Given the description of an element on the screen output the (x, y) to click on. 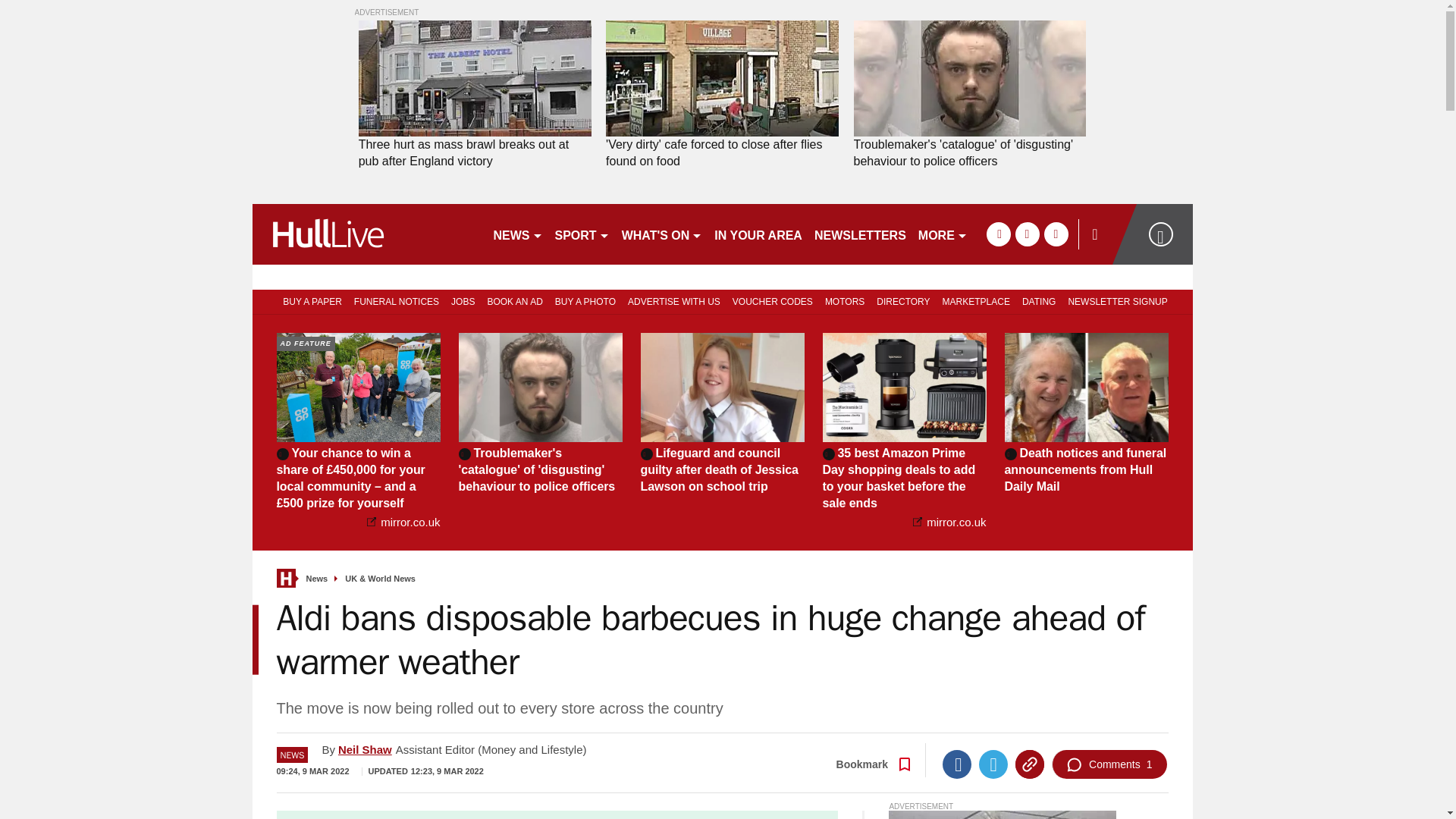
IN YOUR AREA (757, 233)
Comments (1108, 764)
SPORT (581, 233)
'Very dirty' cafe forced to close after flies found on food (721, 152)
'Very dirty' cafe forced to close after flies found on food (721, 152)
twitter (1026, 233)
NEWS (517, 233)
Twitter (992, 764)
facebook (997, 233)
NEWSLETTERS (860, 233)
'Very dirty' cafe forced to close after flies found on food (721, 78)
Facebook (956, 764)
